Given the description of an element on the screen output the (x, y) to click on. 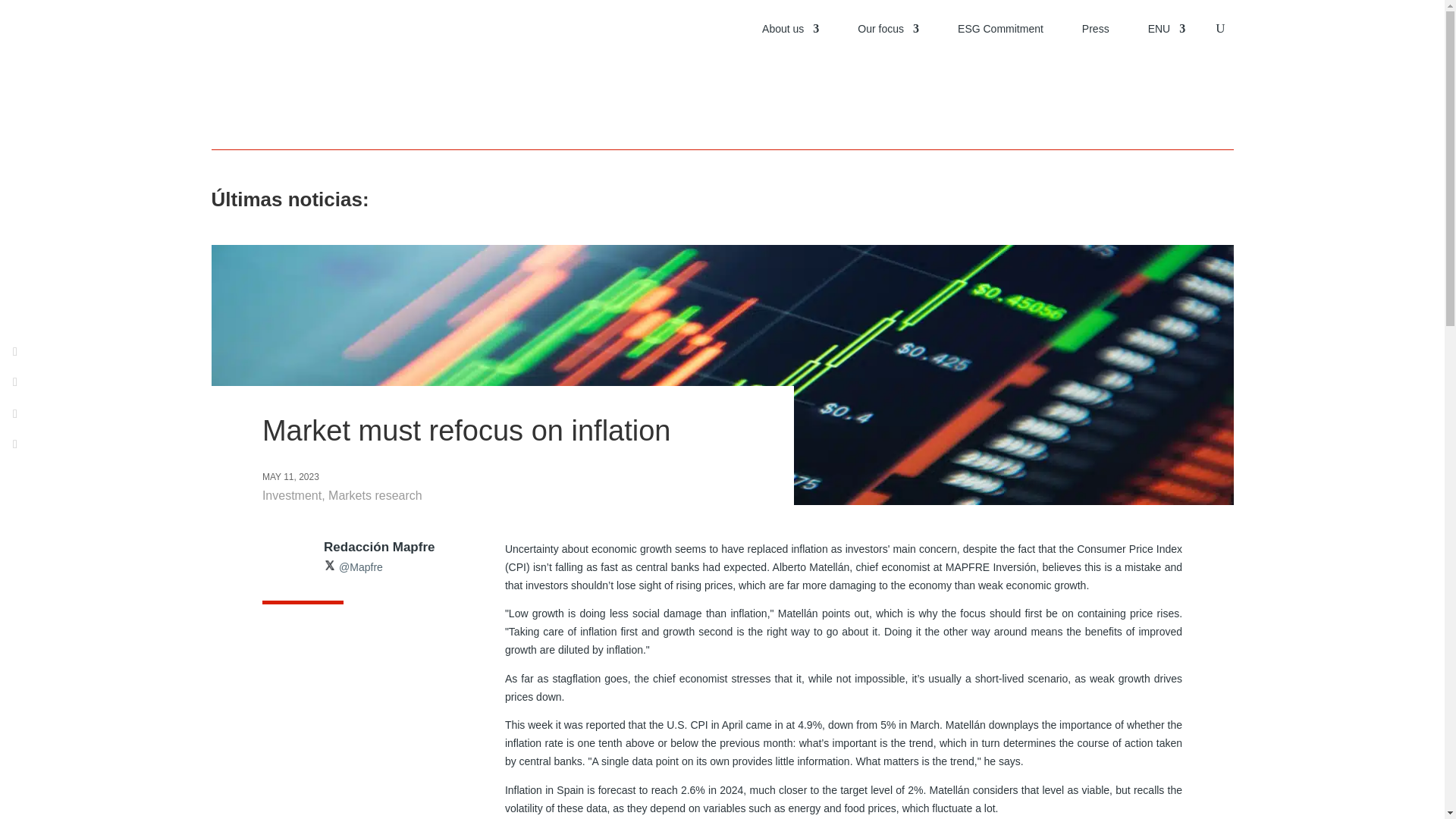
About us (789, 28)
Investment (291, 495)
Our focus (887, 28)
Markets research (375, 495)
ESG Commitment (1000, 28)
